Given the description of an element on the screen output the (x, y) to click on. 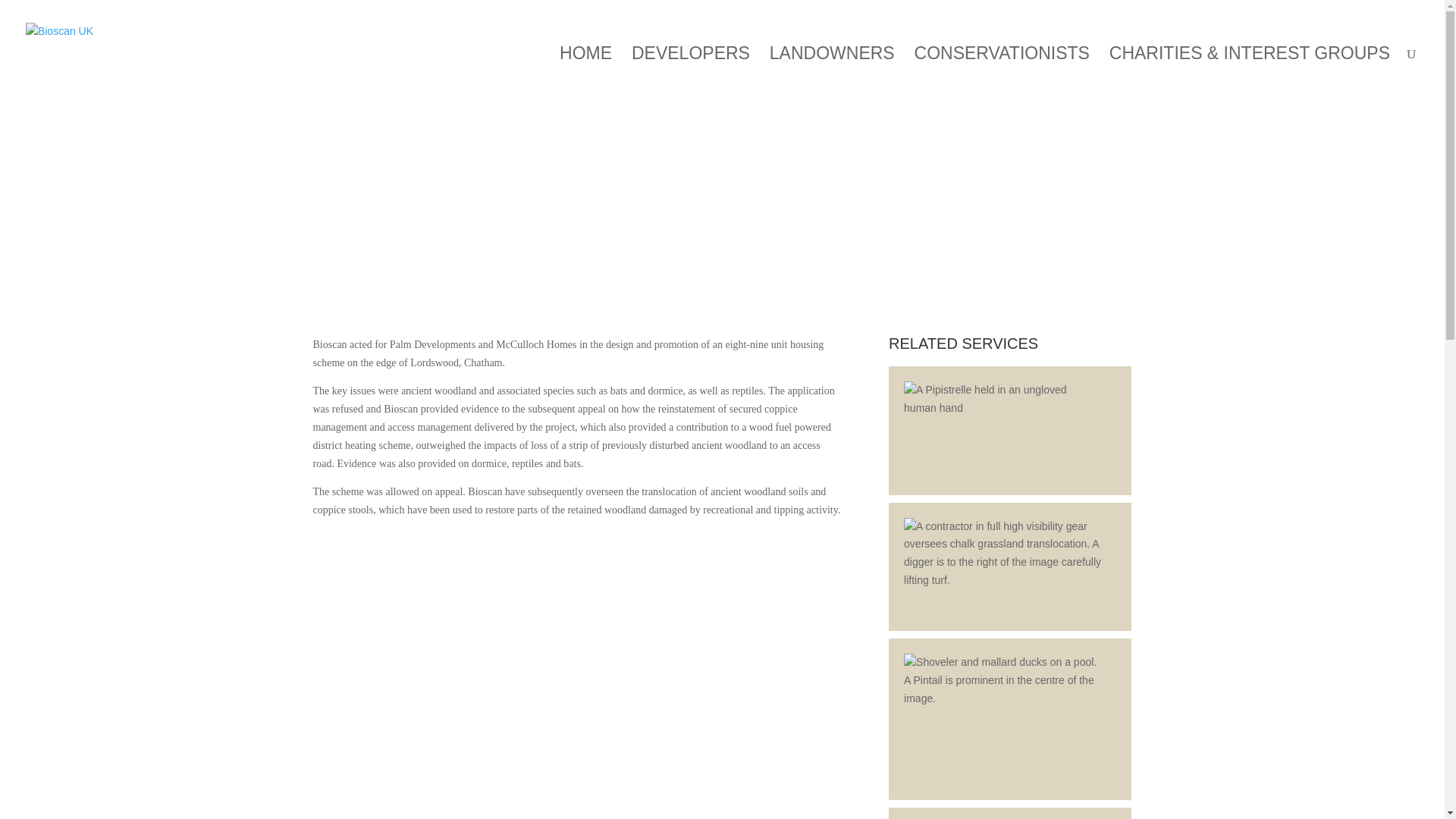
About Bioscan (1234, 16)
Our team (1313, 16)
Get in touch (1388, 16)
CONSERVATIONISTS (1001, 66)
HOME (585, 66)
DEVELOPERS (690, 66)
LANDOWNERS (832, 66)
